Given the description of an element on the screen output the (x, y) to click on. 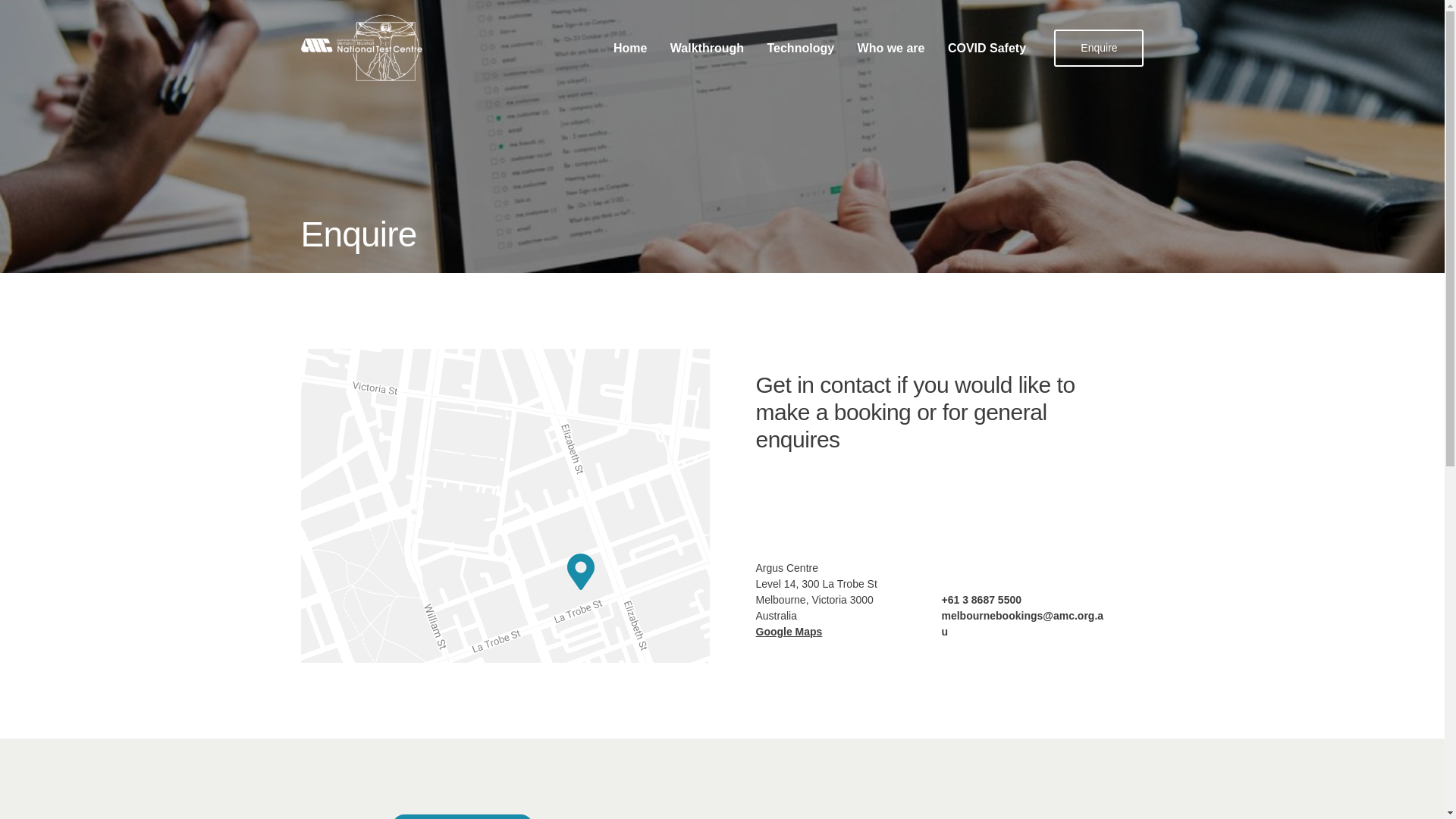
Home (629, 47)
Technology (799, 47)
Who we are (891, 47)
Google Maps (788, 631)
COVID Safety (986, 47)
Enquire (1098, 47)
Walkthrough (706, 47)
